Given the description of an element on the screen output the (x, y) to click on. 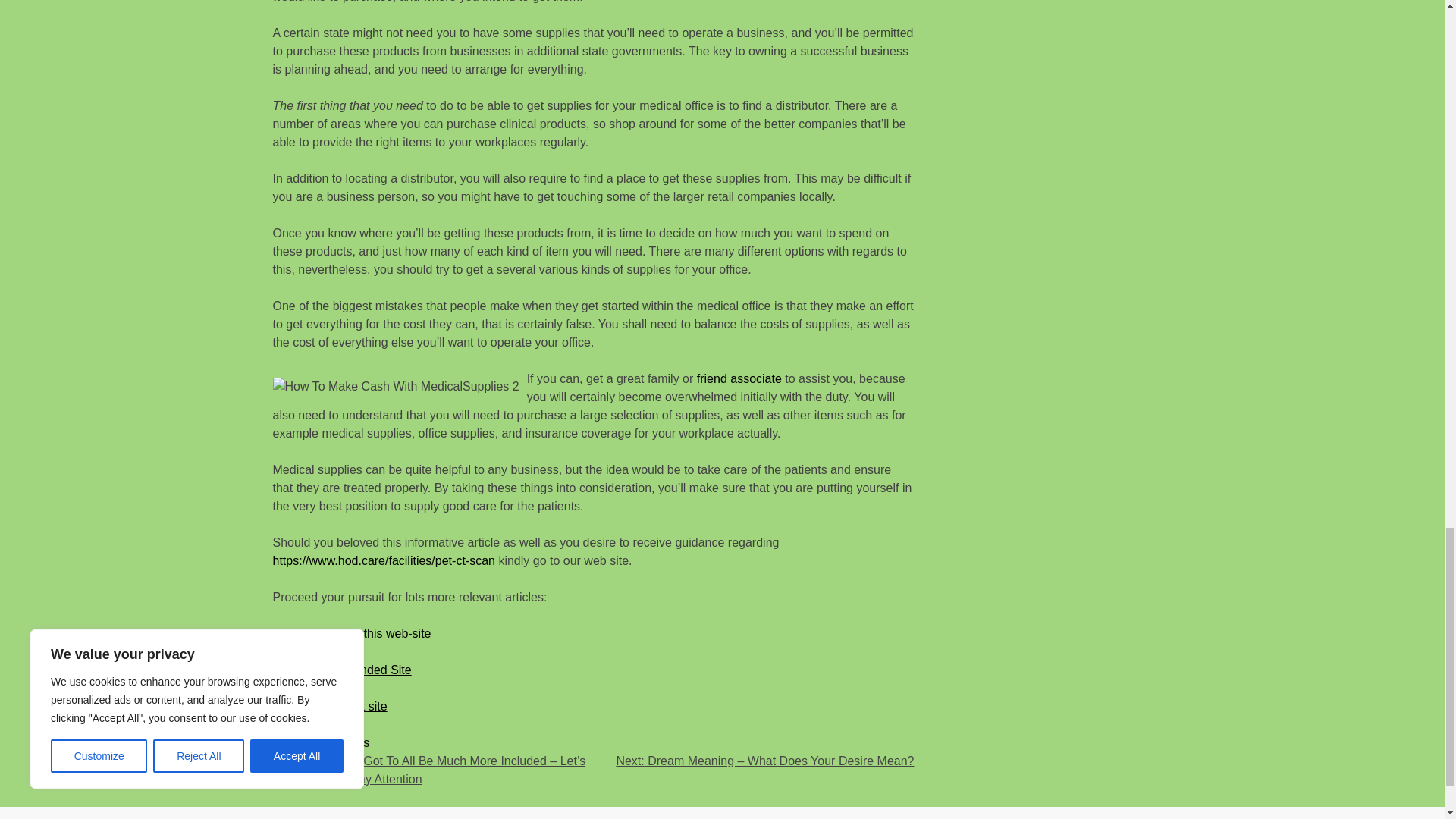
friend associate (739, 377)
just click the next site (330, 705)
Sneak a peek at this web-site (351, 632)
Highly recommended Site (342, 668)
